Given the description of an element on the screen output the (x, y) to click on. 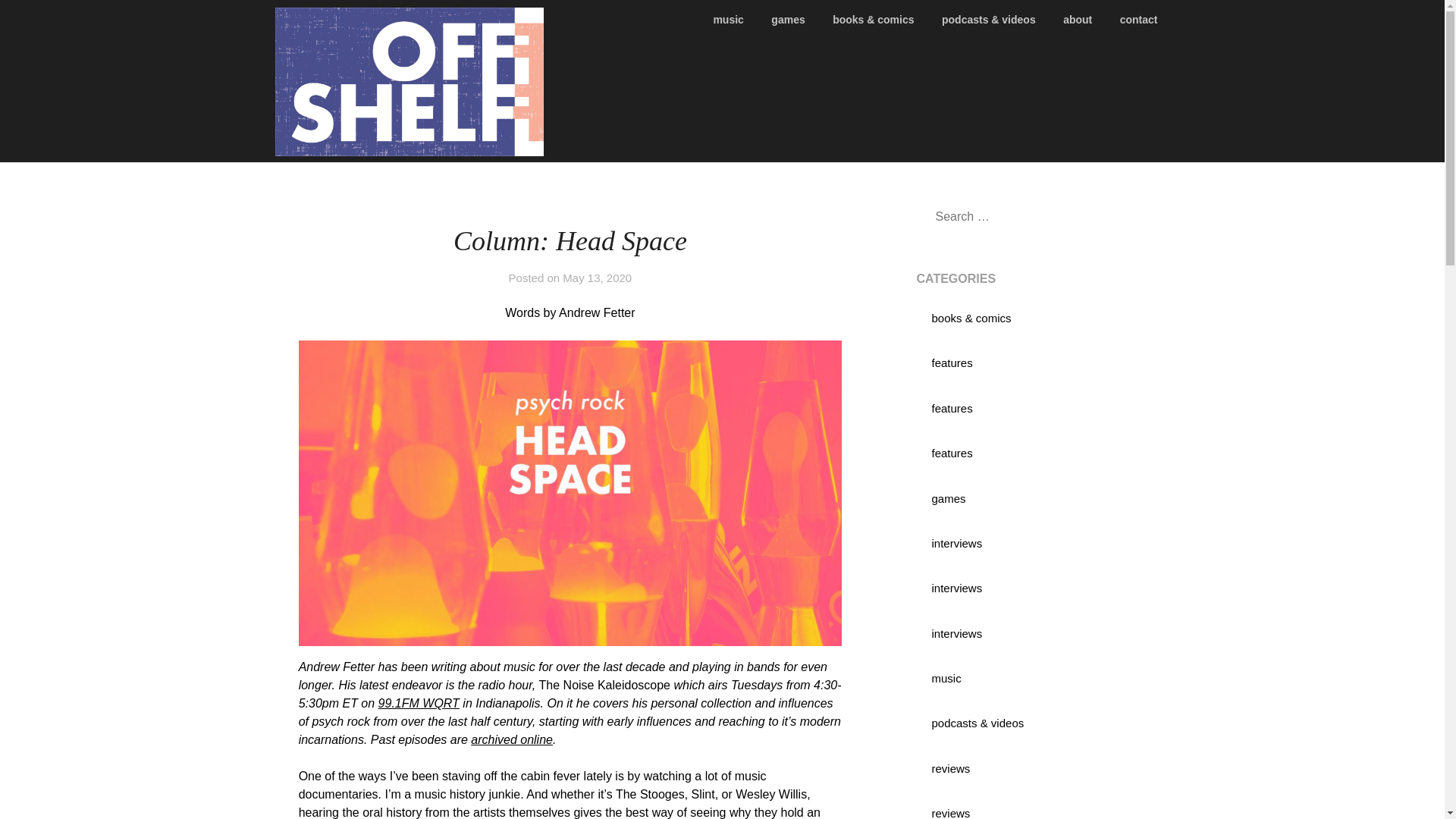
reviews (950, 768)
reviews (950, 812)
about (1077, 20)
games (787, 20)
99.1FM WQRT (419, 703)
music (734, 20)
archived online (511, 739)
features (951, 452)
music (945, 677)
Search (38, 22)
